Given the description of an element on the screen output the (x, y) to click on. 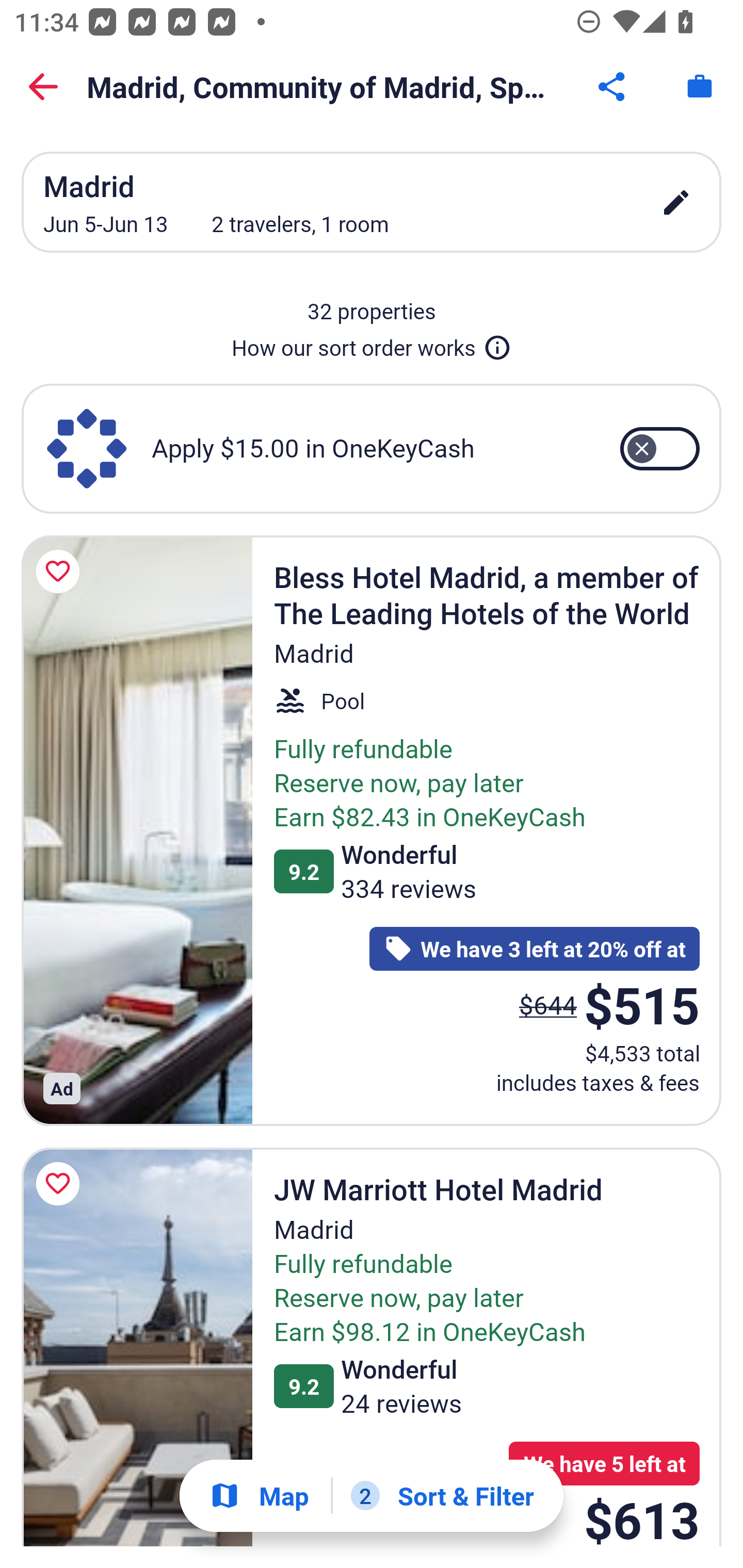
Back (43, 86)
Share Button (612, 86)
Trips. Button (699, 86)
Madrid Jun 5-Jun 13 2 travelers, 1 room edit (371, 202)
How our sort order works (371, 344)
$644 The price was $644 (547, 1004)
Save JW Marriott Hotel Madrid to a trip (61, 1183)
JW Marriott Hotel Madrid (136, 1346)
2 Sort & Filter 2 Filters applied. Filters Button (442, 1495)
Show map Map Show map Button (258, 1495)
